Given the description of an element on the screen output the (x, y) to click on. 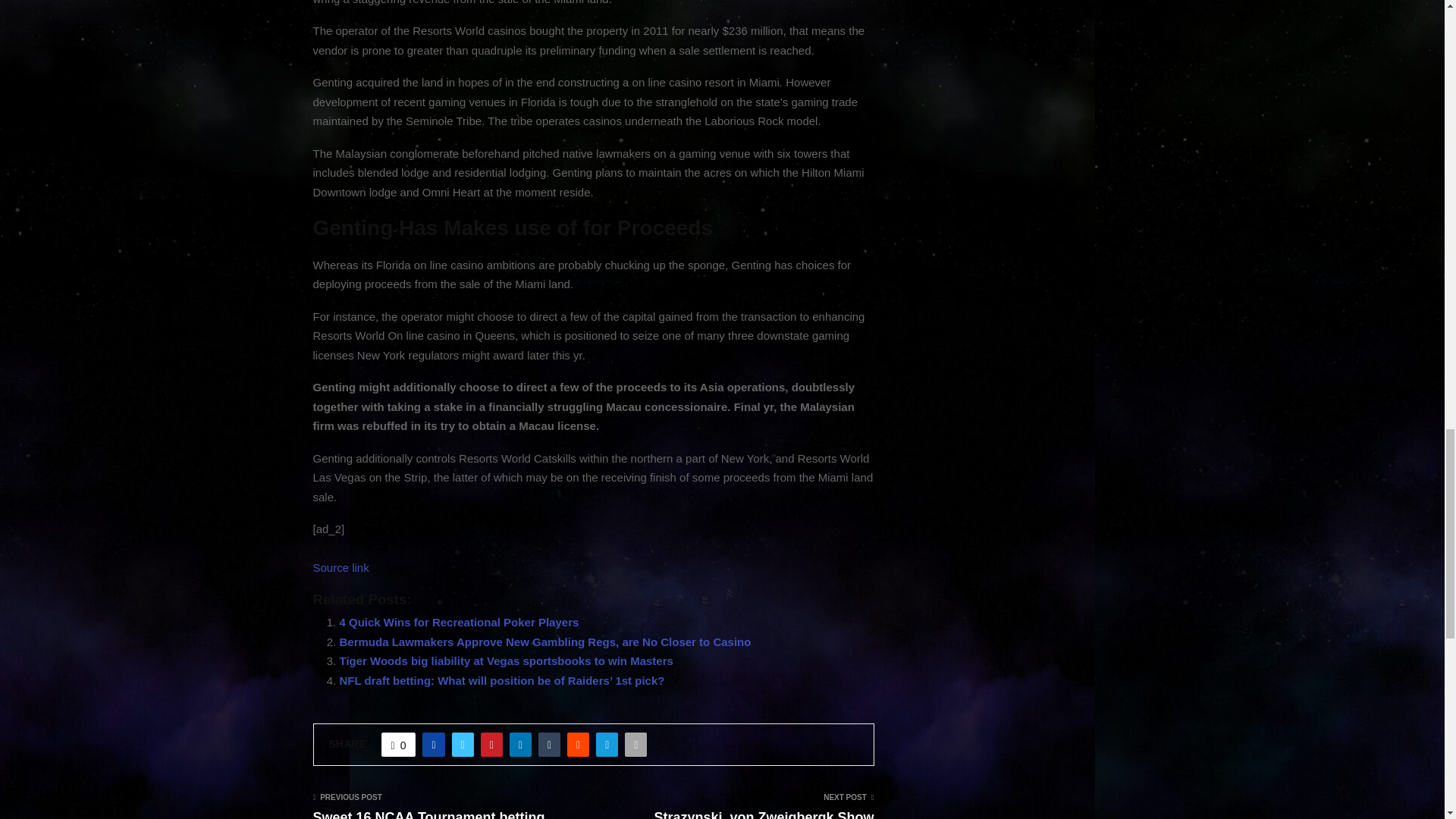
Source link (340, 567)
4 Quick Wins for Recreational Poker Players (459, 621)
4 Quick Wins for Recreational Poker Players (459, 621)
Like (398, 744)
